Given the description of an element on the screen output the (x, y) to click on. 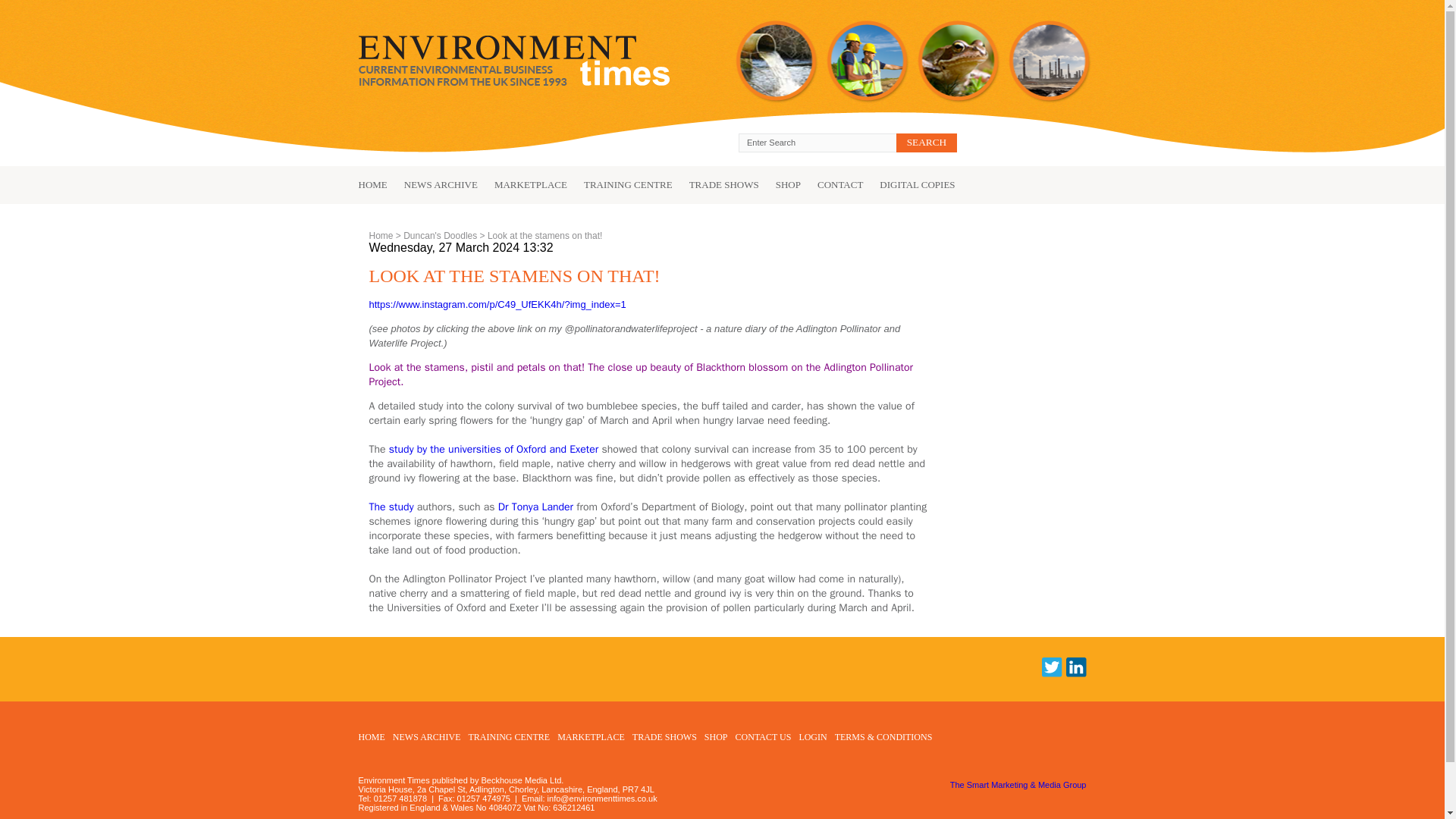
The study (390, 506)
SEARCH (926, 142)
NEWS ARCHIVE (427, 737)
Enter Search (818, 142)
Home (380, 235)
Duncan's Doodles (440, 235)
TRADE SHOWS (664, 737)
SHOP (716, 737)
LOGIN (812, 737)
SHOP (779, 184)
HOME (372, 184)
SEARCH (926, 142)
TRAINING CENTRE (619, 184)
MARKETPLACE (522, 184)
study by the universities of Oxford and Exeter (493, 449)
